Given the description of an element on the screen output the (x, y) to click on. 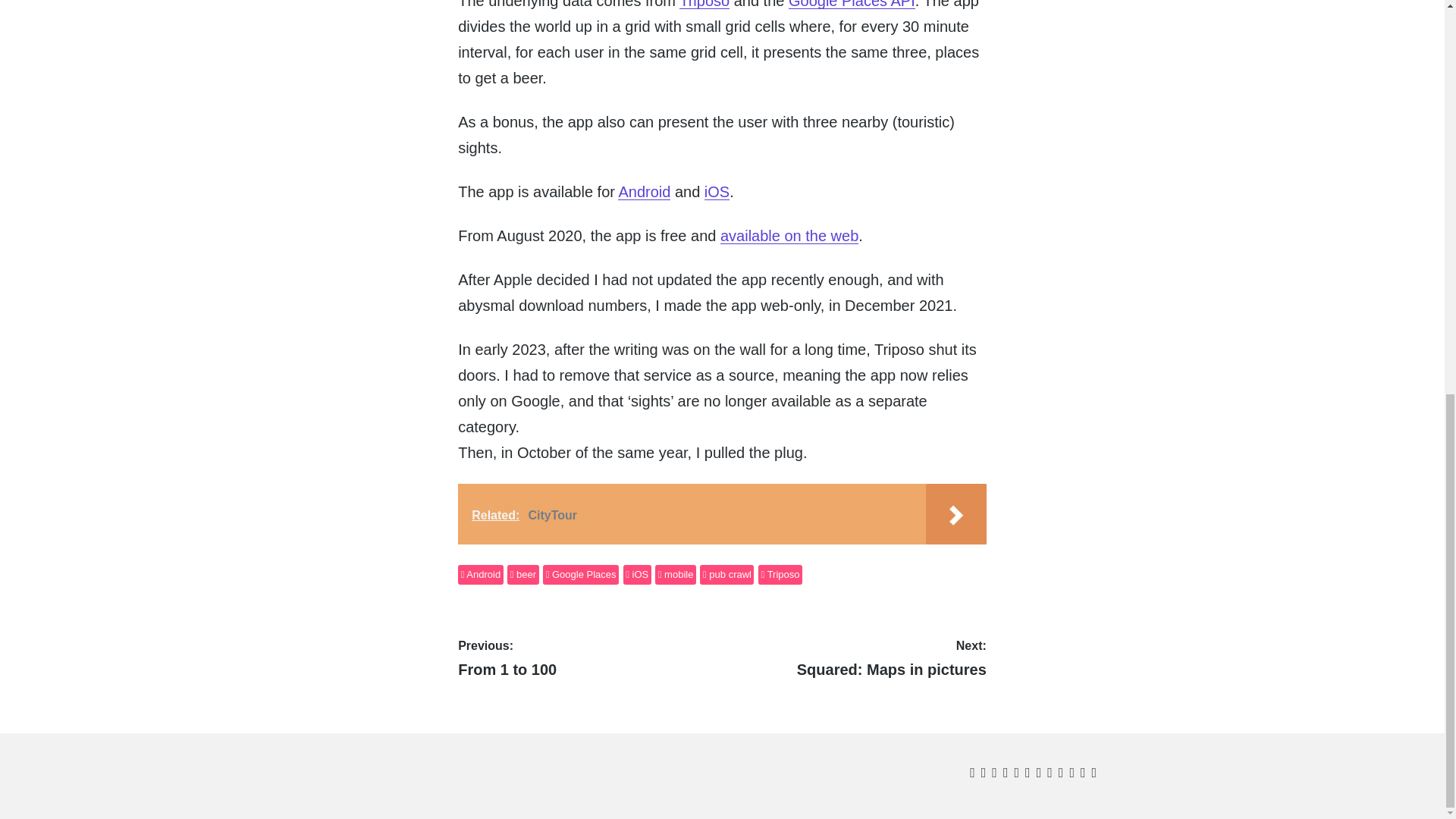
Triposo (704, 4)
 Triposo (780, 574)
 mobile (587, 658)
 beer (675, 574)
Related:  CityTour (522, 574)
 iOS (722, 514)
 pub crawl (636, 574)
Google Places API (727, 574)
